Given the description of an element on the screen output the (x, y) to click on. 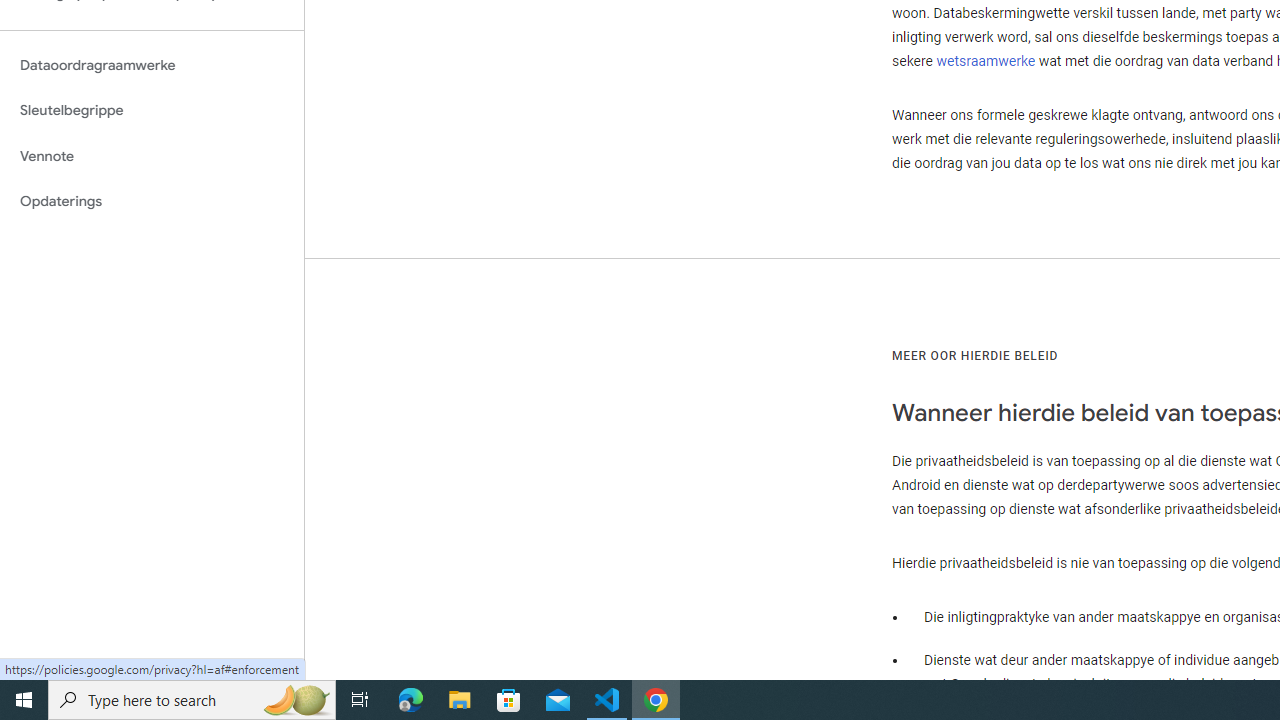
Sleutelbegrippe (152, 110)
wetsraamwerke (985, 62)
Opdaterings (152, 201)
Vennote (152, 156)
Dataoordragraamwerke (152, 65)
